Given the description of an element on the screen output the (x, y) to click on. 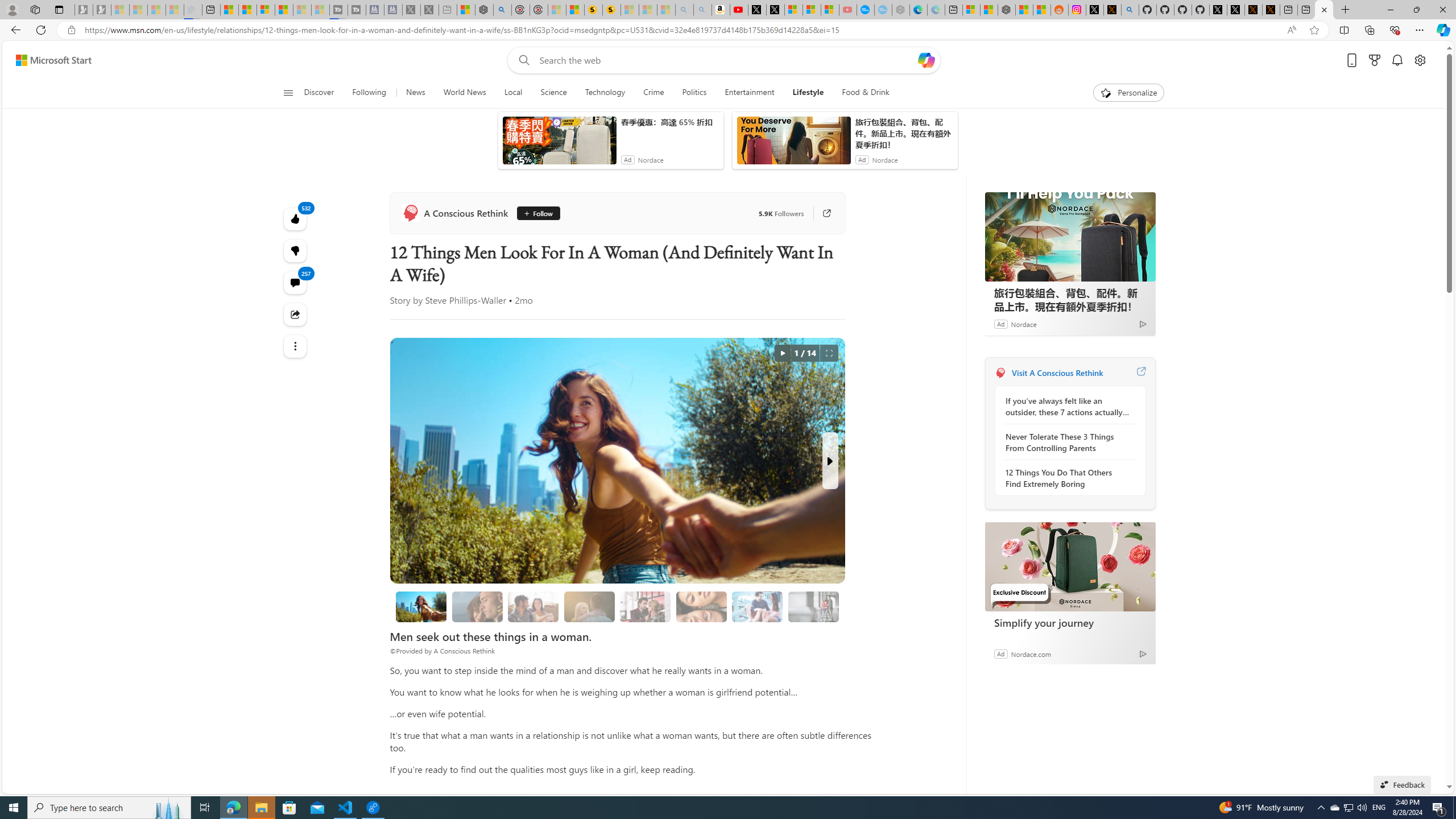
tab-0 (1005, 509)
Weather (579, 151)
New folder (646, 49)
Get better battery performance with Microsoft Edge (1077, 592)
The Week US (647, 288)
Get better battery performance with Microsoft Edge (1074, 664)
15 Behaviors That Signal a Lack of Self-Respect (457, 307)
Hourly (1018, 233)
Movie and TV premieres (1060, 718)
Click to see more information (1142, 255)
View comments 10 Comment (530, 505)
15 Habits That Make You Seem Rude (807, 307)
AutomationID: tab-16 (446, 328)
